Given the description of an element on the screen output the (x, y) to click on. 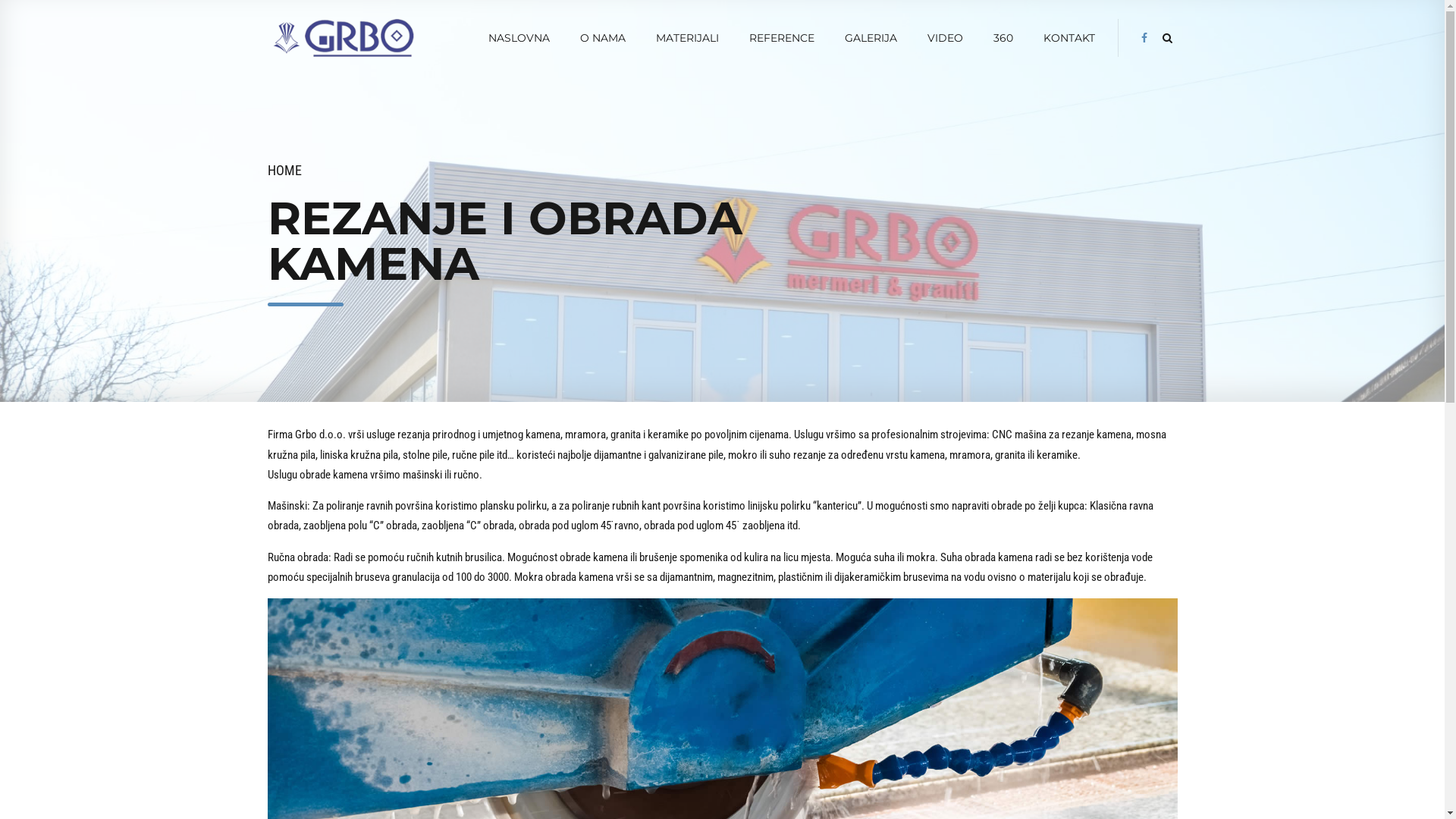
NASLOVNA Element type: text (518, 37)
MATERIJALI Element type: text (686, 37)
REFERENCE Element type: text (781, 37)
GALERIJA Element type: text (870, 37)
360 Element type: text (1003, 37)
KONTAKT Element type: text (1069, 37)
VIDEO Element type: text (945, 37)
HOME Element type: text (283, 170)
O NAMA Element type: text (602, 37)
